Given the description of an element on the screen output the (x, y) to click on. 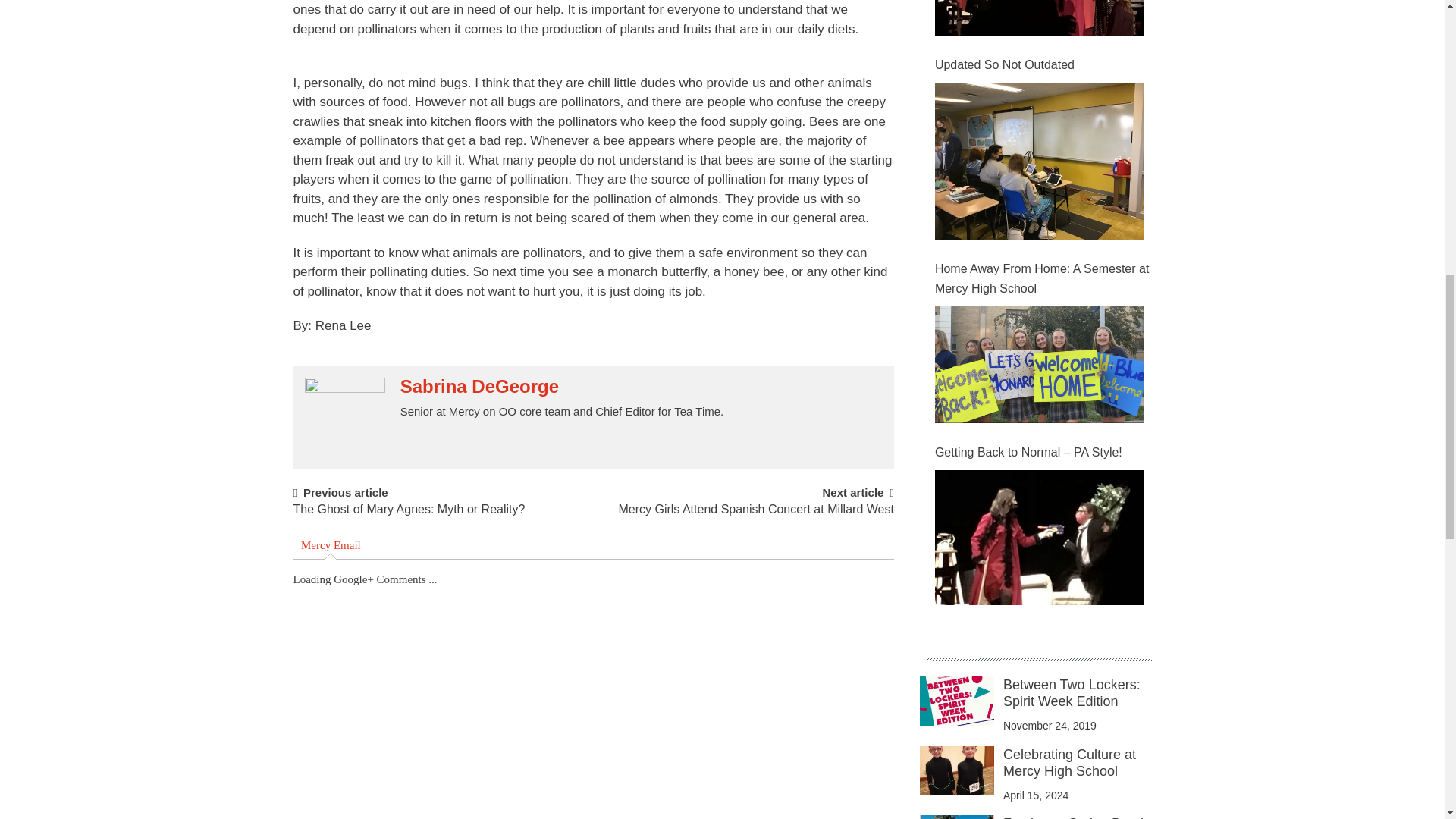
Home Away From Home: A Semester at Mercy High School (1042, 278)
Home Away From Home: A Semester at Mercy High School (1039, 364)
November 24, 2019 (1049, 725)
Mercy Email (331, 545)
The Ghost of Mary Agnes: Myth or Reality? (408, 516)
Updated So Not Outdated (1042, 65)
Updated So Not Outdated (1039, 160)
Sabrina DeGeorge (479, 386)
Between Two Lockers: Spirit Week Edition (1071, 693)
PA as an underclassman (1039, 18)
Mercy Girls Attend Spanish Concert at Millard West (755, 516)
